Given the description of an element on the screen output the (x, y) to click on. 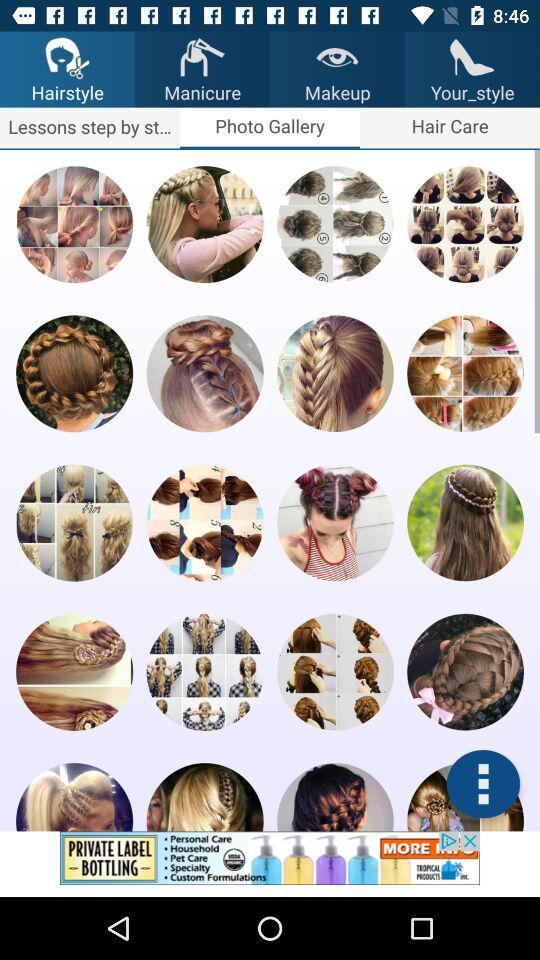
hairstyle thumbnail (335, 373)
